Given the description of an element on the screen output the (x, y) to click on. 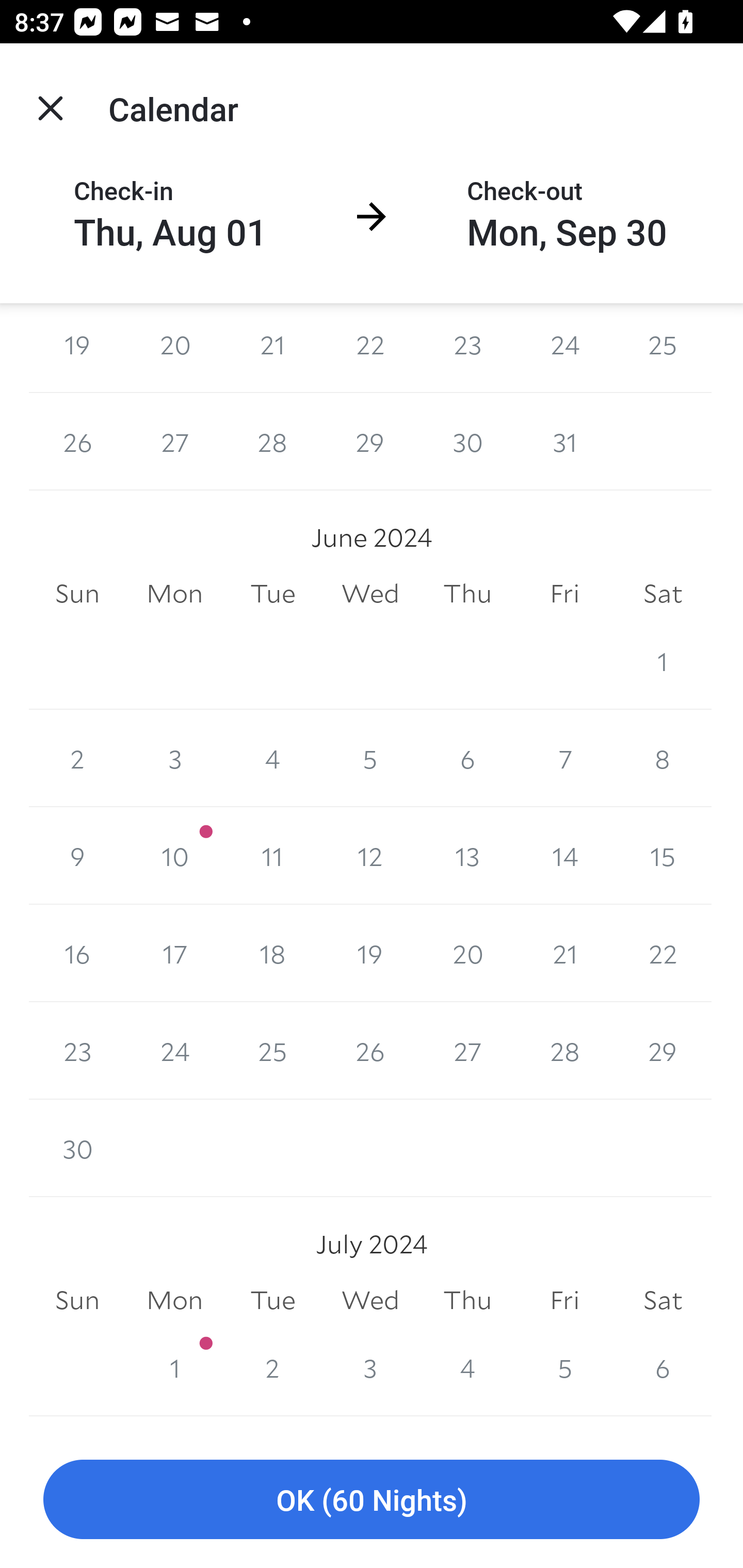
19 19 May 2024 (77, 347)
20 20 May 2024 (174, 347)
21 21 May 2024 (272, 347)
22 22 May 2024 (370, 347)
23 23 May 2024 (467, 347)
24 24 May 2024 (564, 347)
25 25 May 2024 (662, 347)
26 26 May 2024 (77, 441)
27 27 May 2024 (174, 441)
28 28 May 2024 (272, 441)
29 29 May 2024 (370, 441)
30 30 May 2024 (467, 441)
31 31 May 2024 (564, 441)
Sun (77, 593)
Mon (174, 593)
Tue (272, 593)
Wed (370, 593)
Thu (467, 593)
Fri (564, 593)
Sat (662, 593)
1 1 June 2024 (662, 660)
2 2 June 2024 (77, 758)
3 3 June 2024 (174, 758)
4 4 June 2024 (272, 758)
5 5 June 2024 (370, 758)
6 6 June 2024 (467, 758)
7 7 June 2024 (564, 758)
8 8 June 2024 (662, 758)
9 9 June 2024 (77, 855)
10 10 June 2024 (174, 855)
11 11 June 2024 (272, 855)
12 12 June 2024 (370, 855)
13 13 June 2024 (467, 855)
14 14 June 2024 (564, 855)
15 15 June 2024 (662, 855)
16 16 June 2024 (77, 952)
17 17 June 2024 (174, 952)
18 18 June 2024 (272, 952)
19 19 June 2024 (370, 952)
20 20 June 2024 (467, 952)
21 21 June 2024 (564, 952)
22 22 June 2024 (662, 952)
23 23 June 2024 (77, 1050)
24 24 June 2024 (174, 1050)
25 25 June 2024 (272, 1050)
26 26 June 2024 (370, 1050)
27 27 June 2024 (467, 1050)
28 28 June 2024 (564, 1050)
29 29 June 2024 (662, 1050)
30 30 June 2024 (77, 1147)
Sun (77, 1299)
Mon (174, 1299)
Tue (272, 1299)
Wed (370, 1299)
Thu (467, 1299)
Fri (564, 1299)
Sat (662, 1299)
1 1 July 2024 (174, 1366)
2 2 July 2024 (272, 1366)
3 3 July 2024 (370, 1366)
4 4 July 2024 (467, 1366)
5 5 July 2024 (564, 1366)
6 6 July 2024 (662, 1366)
OK (60 Nights) (371, 1499)
